Given the description of an element on the screen output the (x, y) to click on. 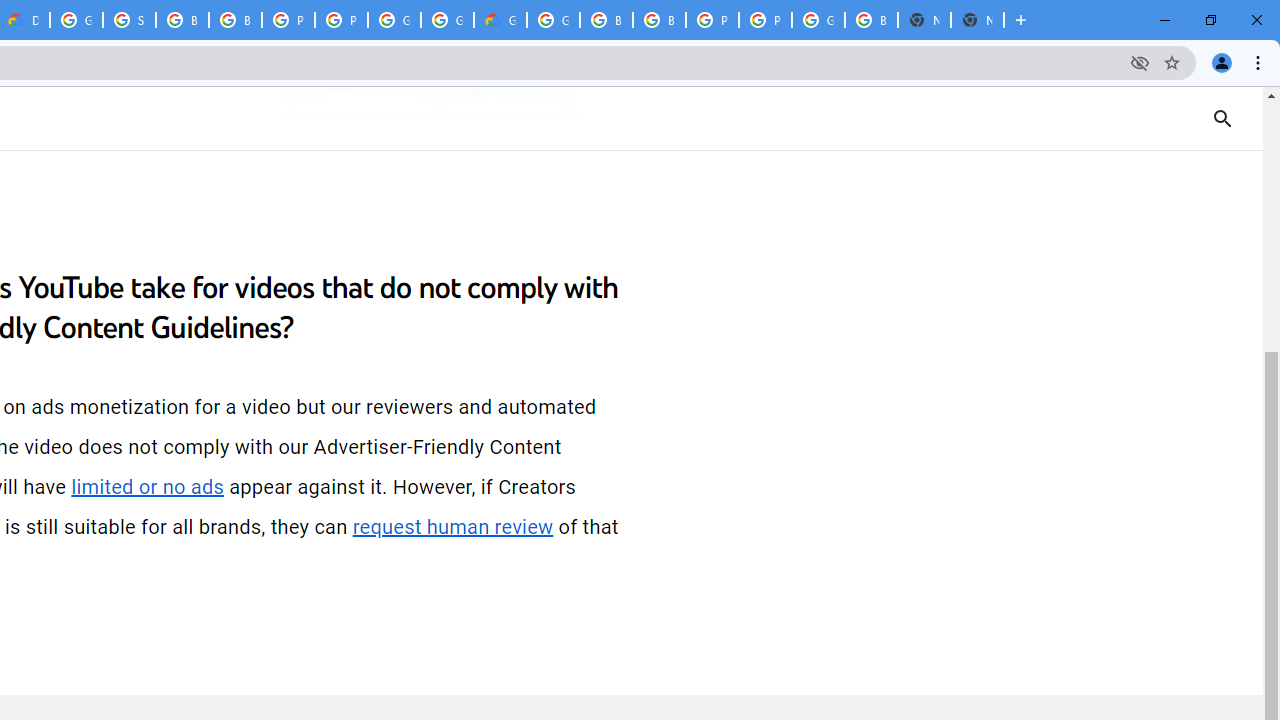
Browse Chrome as a guest - Computer - Google Chrome Help (659, 20)
limited or no ads (147, 487)
Browse Chrome as a guest - Computer - Google Chrome Help (182, 20)
Google Cloud Platform (447, 20)
Sign in - Google Accounts (129, 20)
New Tab (977, 20)
Browse Chrome as a guest - Computer - Google Chrome Help (606, 20)
Google Cloud Platform (76, 20)
Google Cloud Platform (394, 20)
Browse Chrome as a guest - Computer - Google Chrome Help (235, 20)
